Given the description of an element on the screen output the (x, y) to click on. 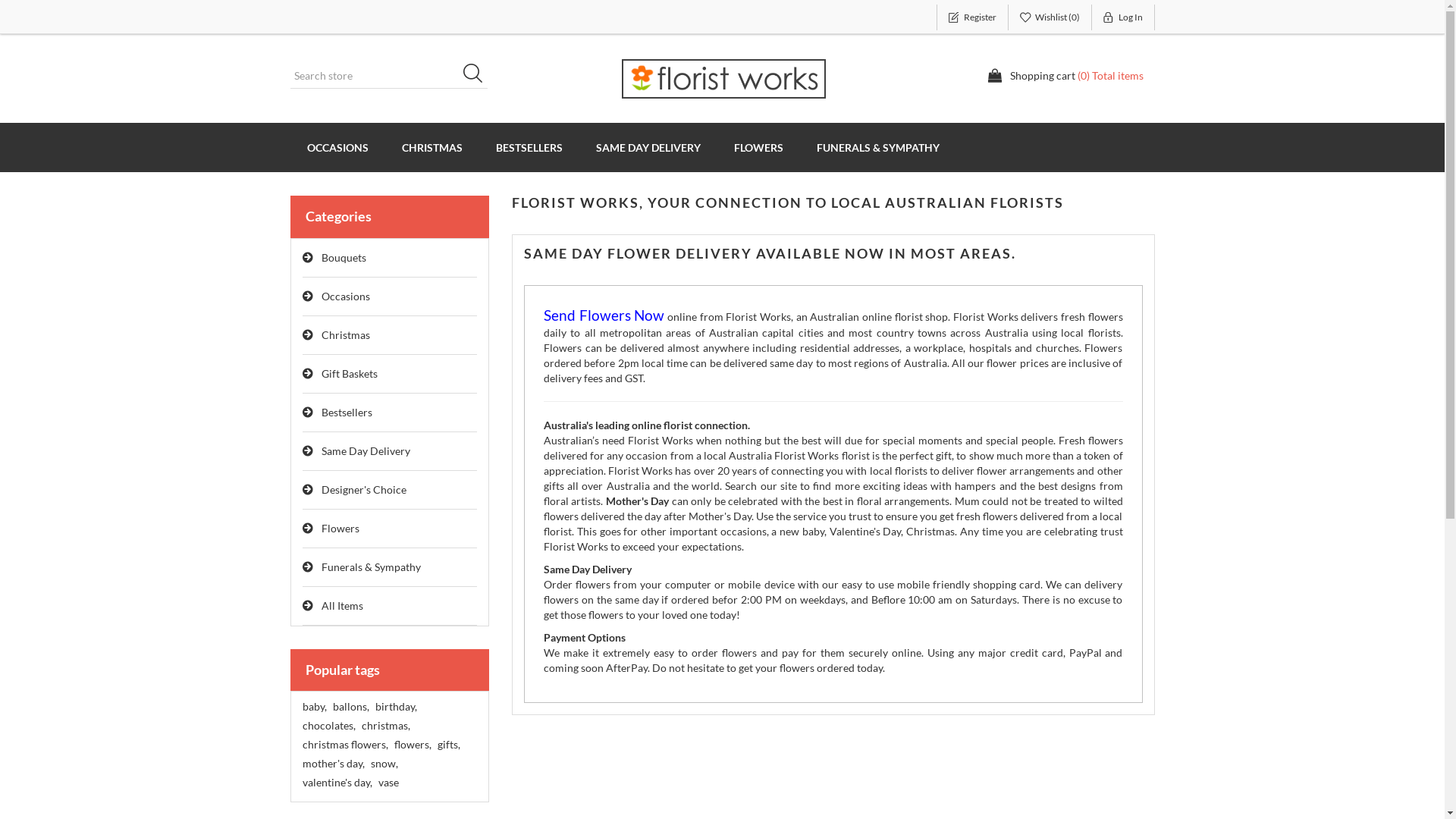
Designer's Choice Element type: text (388, 489)
christmas, Element type: text (384, 725)
vase Element type: text (387, 782)
baby, Element type: text (313, 706)
Send Flowers Now Element type: text (603, 316)
Occasions Element type: text (388, 296)
CHRISTMAS Element type: text (432, 147)
valentine's day, Element type: text (336, 782)
FUNERALS & SYMPATHY Element type: text (877, 147)
Register Element type: text (971, 17)
Shopping cart (0) Total items Element type: text (1065, 75)
FLOWERS Element type: text (758, 147)
flowers, Element type: text (412, 744)
Bouquets Element type: text (388, 257)
OCCASIONS Element type: text (336, 147)
mother's day, Element type: text (332, 763)
Gift Baskets Element type: text (388, 373)
All Items Element type: text (388, 605)
Christmas Element type: text (388, 335)
ballons, Element type: text (350, 706)
Same Day Delivery Element type: text (388, 451)
snow, Element type: text (383, 763)
Flowers Element type: text (388, 528)
christmas flowers, Element type: text (344, 744)
birthday, Element type: text (395, 706)
Funerals & Sympathy Element type: text (388, 567)
SAME DAY DELIVERY Element type: text (648, 147)
Wishlist (0) Element type: text (1050, 17)
Log In Element type: text (1123, 17)
Bestsellers Element type: text (388, 412)
chocolates, Element type: text (327, 725)
gifts, Element type: text (447, 744)
BESTSELLERS Element type: text (529, 147)
